Given the description of an element on the screen output the (x, y) to click on. 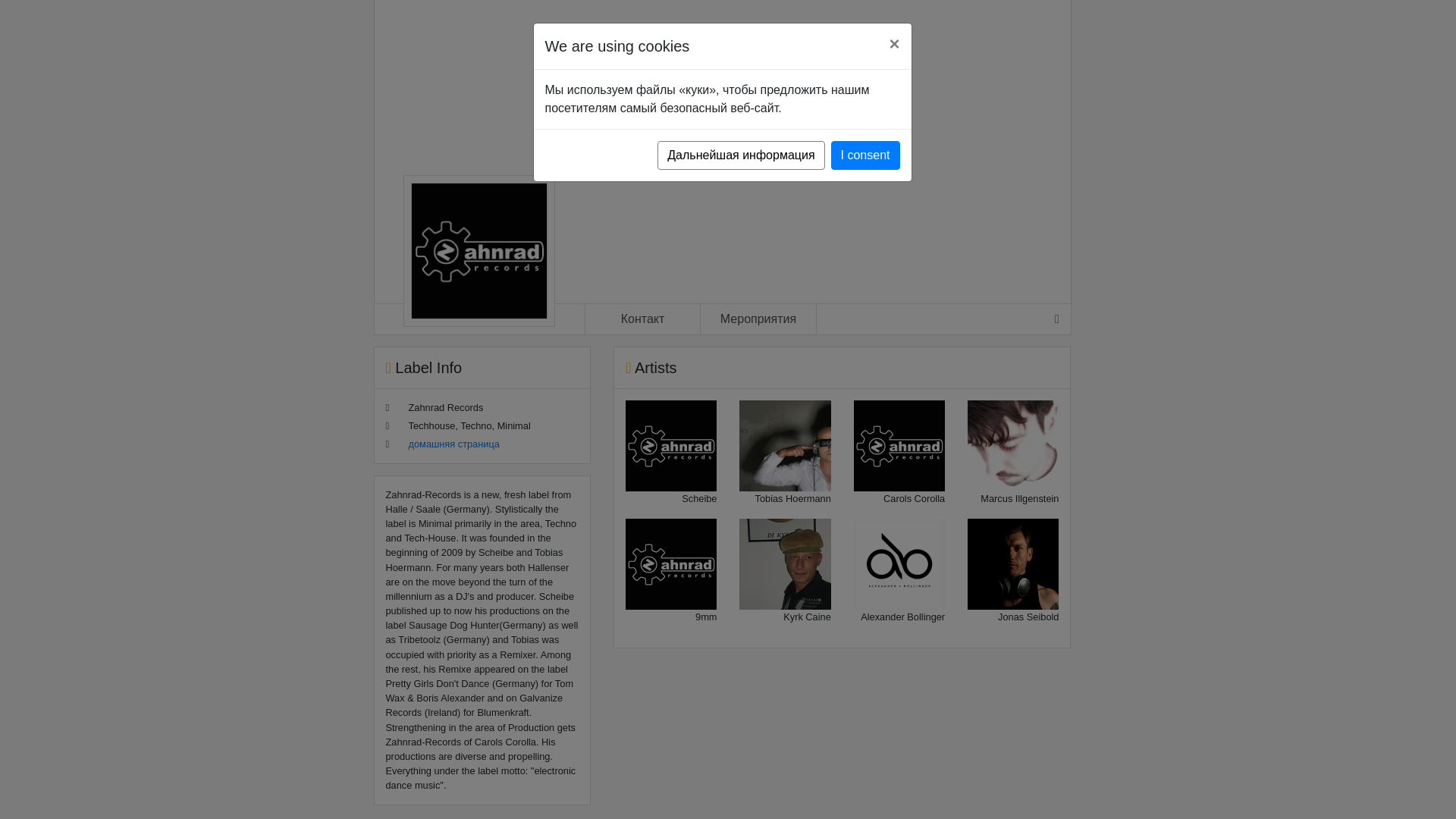
I consent (865, 154)
